Given the description of an element on the screen output the (x, y) to click on. 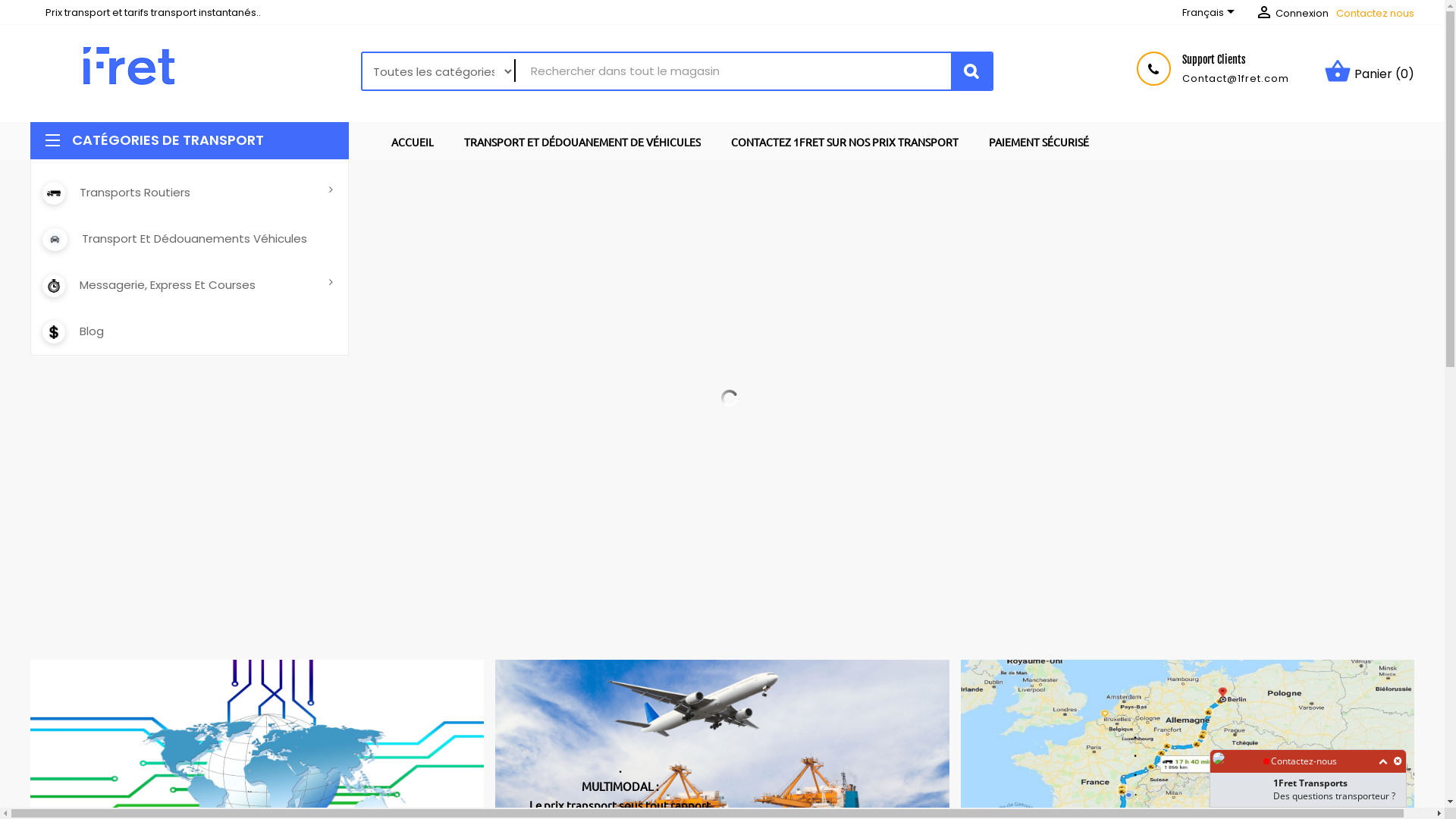
Blog Element type: text (181, 331)
Messagerie, Express Et Courses Element type: text (181, 285)
Contactez nous Element type: text (1375, 13)
CONTACTEZ 1FRET SUR NOS PRIX TRANSPORT Element type: text (844, 140)
Transports Routiers Element type: text (181, 192)
ACCUEIL Element type: text (412, 140)
